Given the description of an element on the screen output the (x, y) to click on. 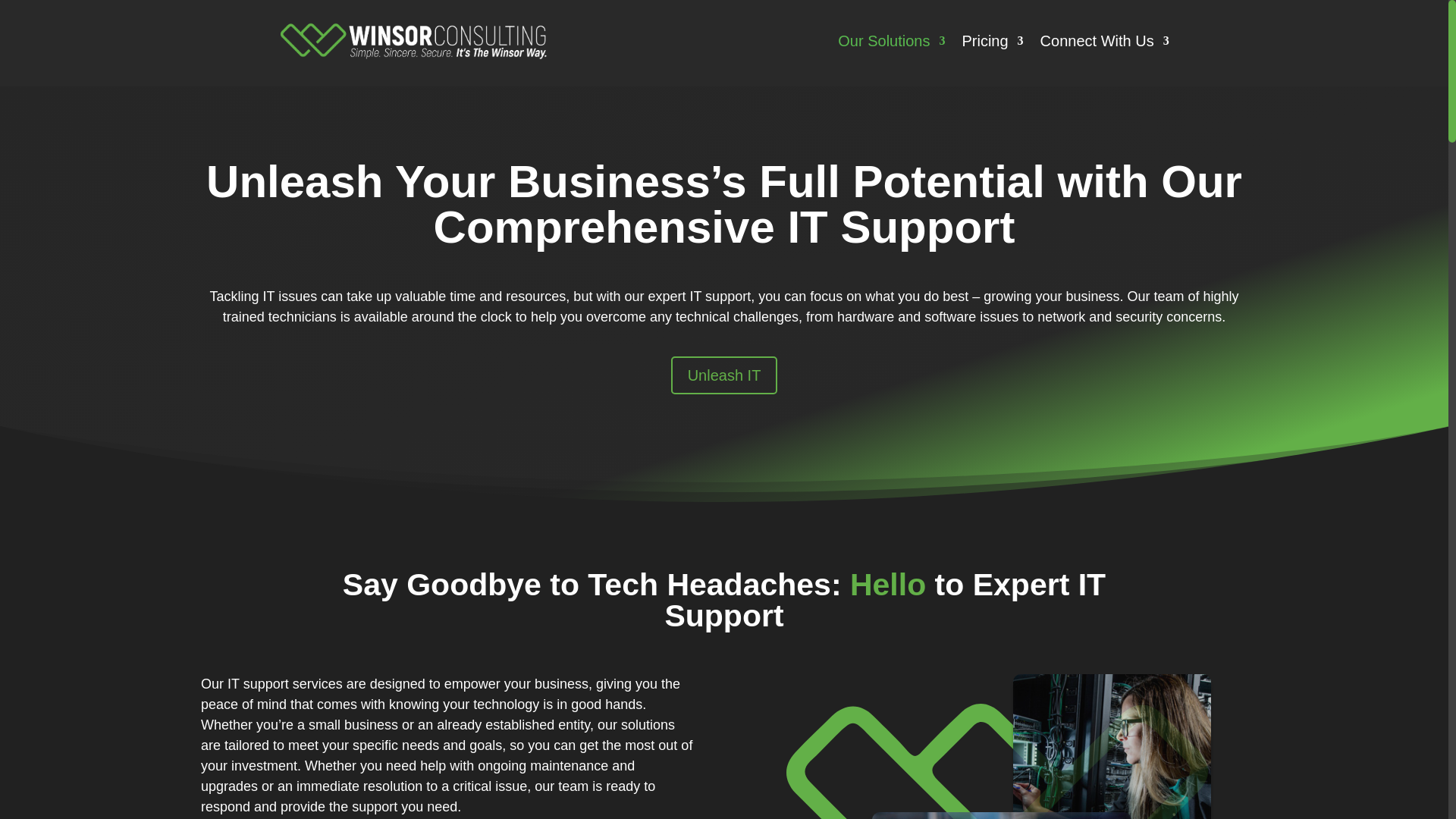
Unleash IT (724, 374)
Pricing (991, 40)
Connect With Us (1105, 40)
Our Solutions (891, 40)
Winsor Consulting IT Support Team (1000, 746)
